Given the description of an element on the screen output the (x, y) to click on. 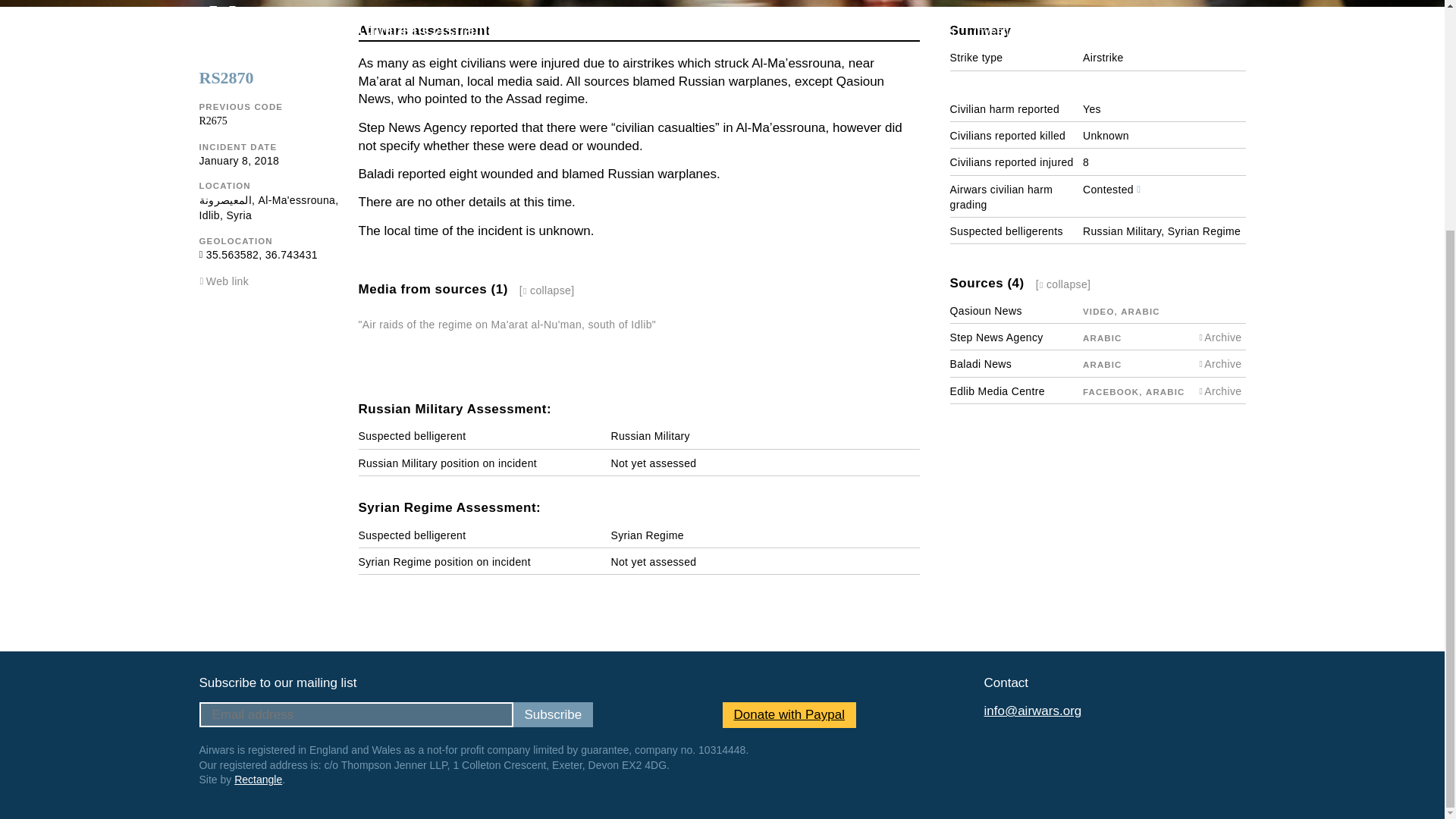
Qasioun News (985, 310)
Subscribe (552, 714)
Web link (227, 281)
